Given the description of an element on the screen output the (x, y) to click on. 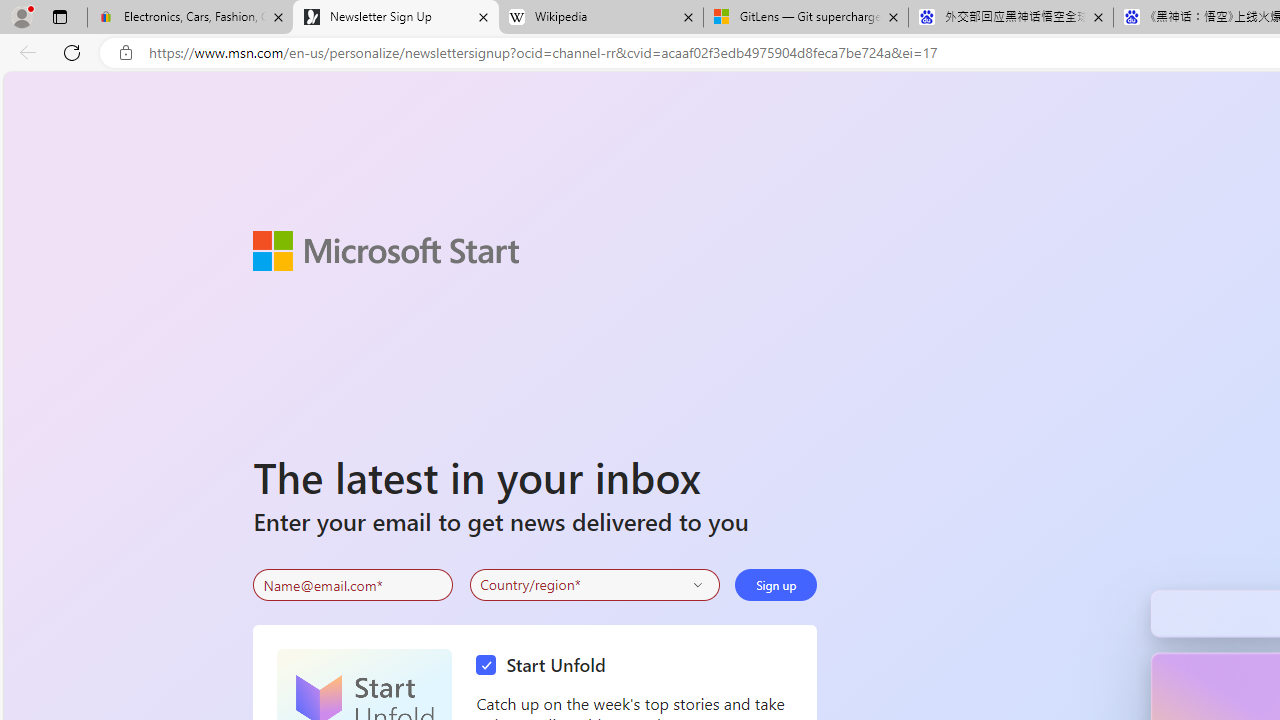
Enter your email (353, 585)
Sign up (775, 584)
Newsletter Sign Up (395, 17)
Wikipedia (600, 17)
Select your country (594, 584)
Start Unfold (545, 665)
